Given the description of an element on the screen output the (x, y) to click on. 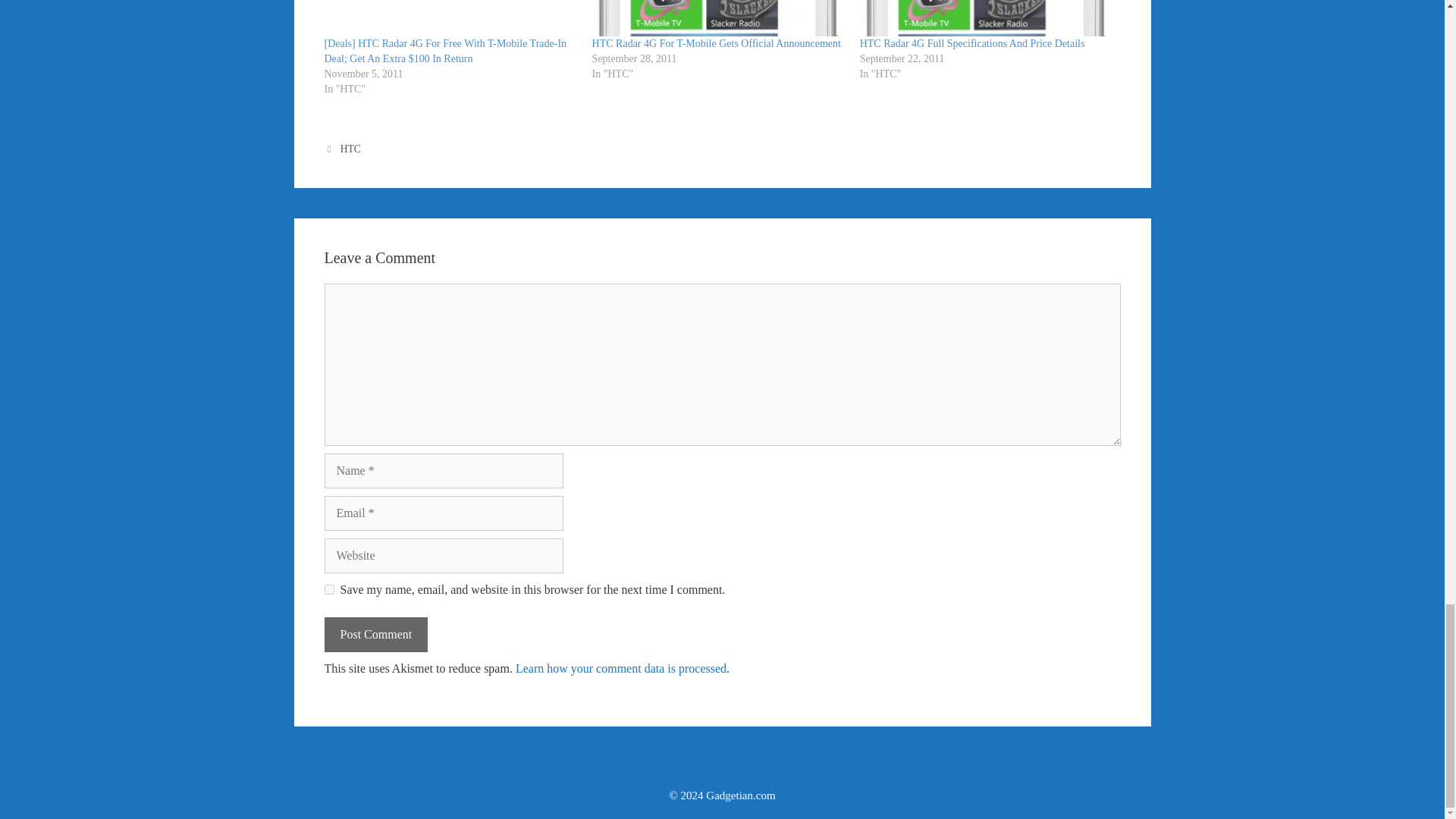
HTC Radar 4G Full Specifications And Price Details (986, 18)
HTC Radar 4G Full Specifications And Price Details (972, 43)
HTC (350, 148)
yes (329, 589)
Post Comment (376, 634)
Post Comment (376, 634)
HTC Radar 4G For T-Mobile Gets Official Announcement (718, 18)
HTC Radar 4G For T-Mobile Gets Official Announcement (716, 43)
HTC Radar 4G For T-Mobile Gets Official Announcement (716, 43)
Learn how your comment data is processed (620, 667)
